Given the description of an element on the screen output the (x, y) to click on. 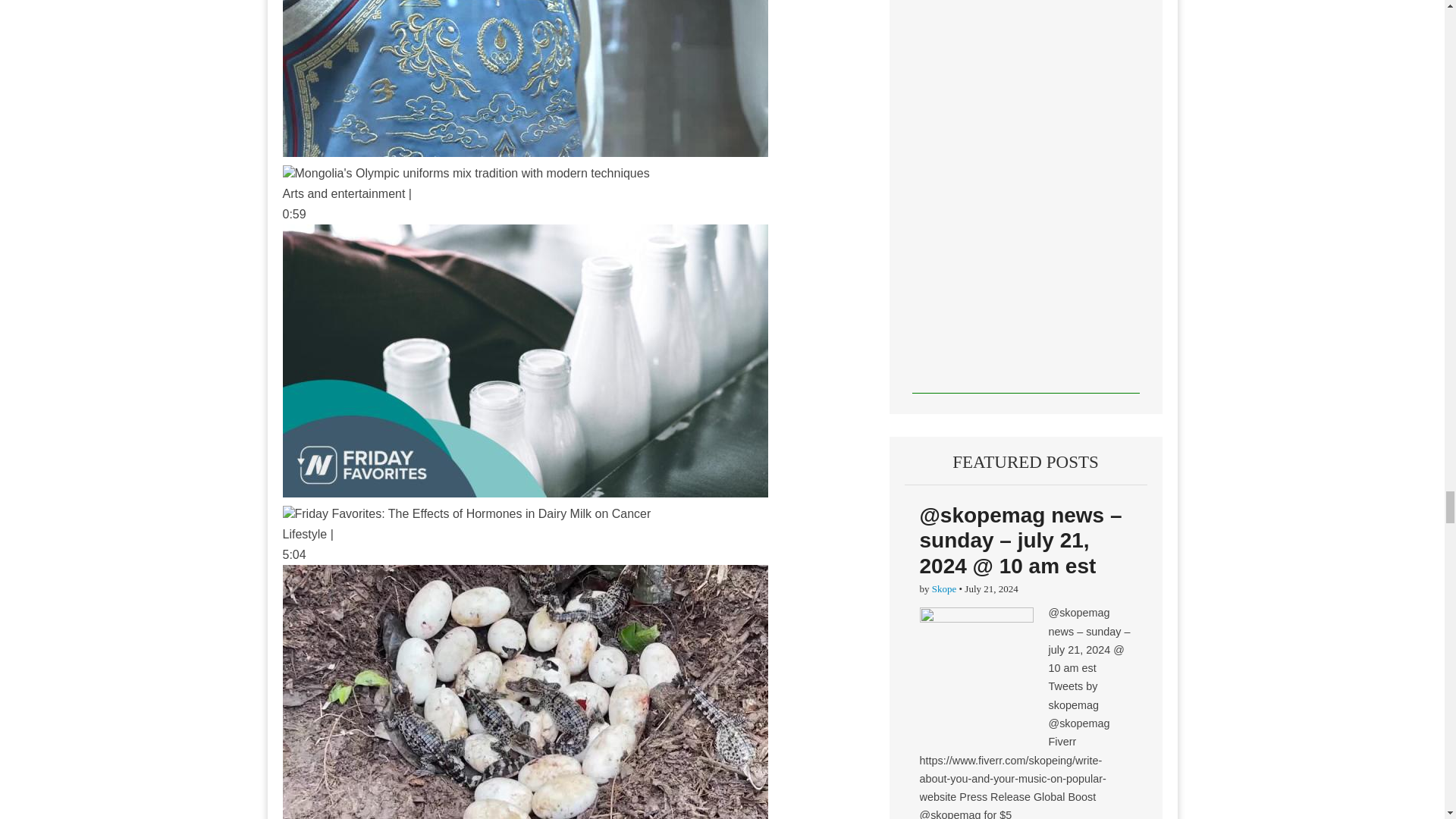
Posts by Skope (943, 588)
